Given the description of an element on the screen output the (x, y) to click on. 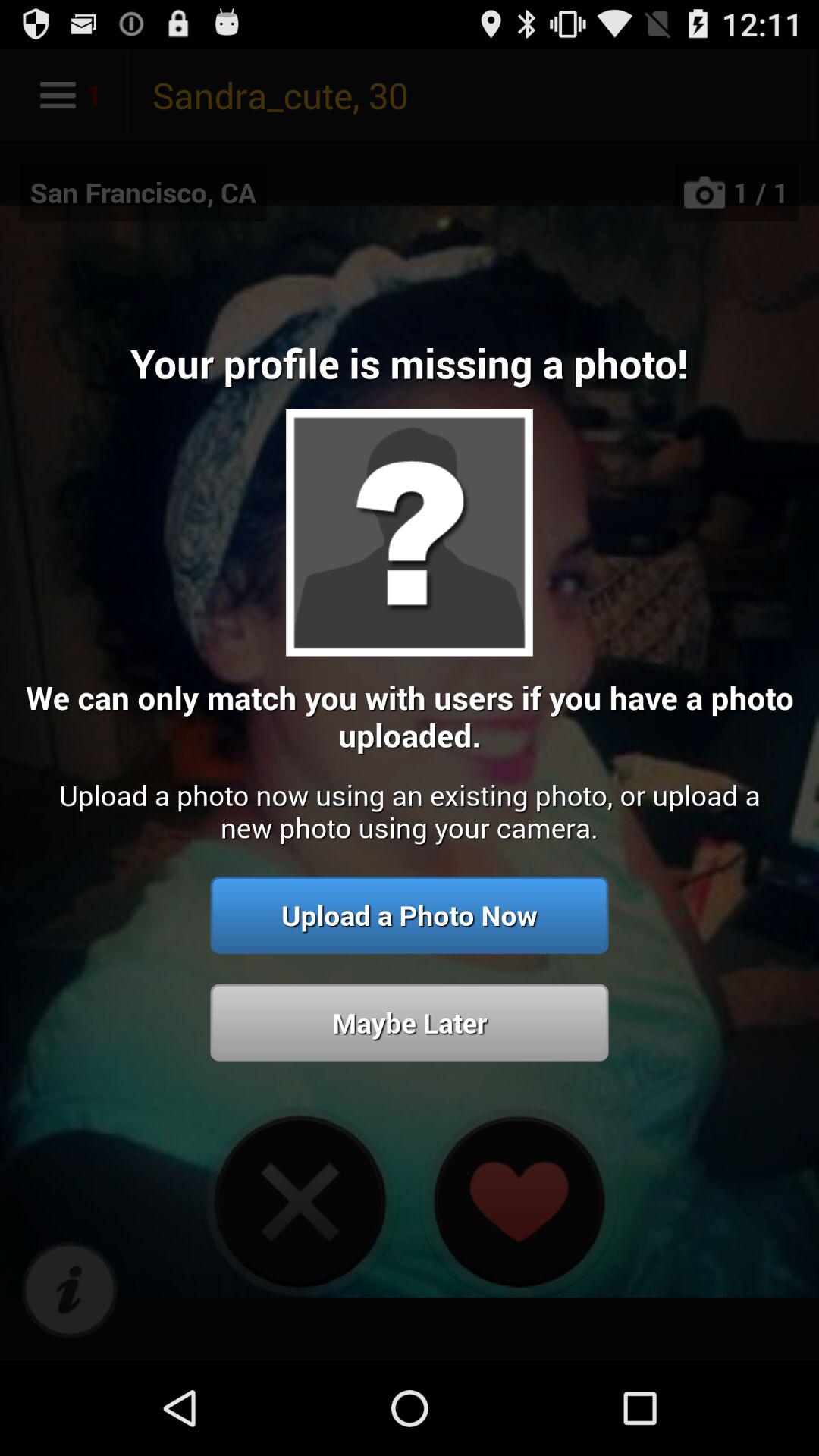
heart icon (518, 1200)
